Given the description of an element on the screen output the (x, y) to click on. 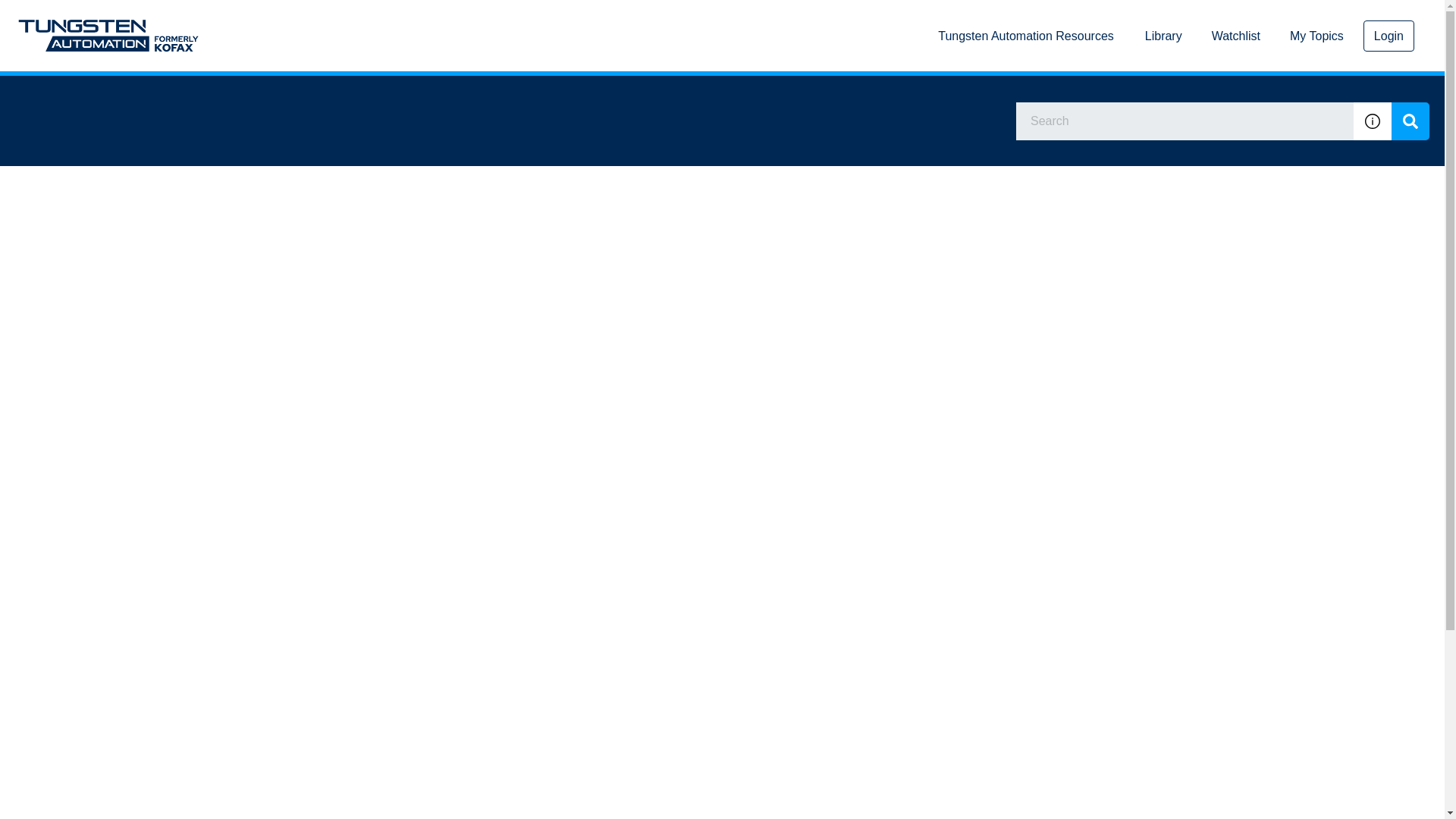
Tungsten Automation Resources (1025, 35)
Login (1387, 34)
Library (1163, 35)
My Topics (1316, 35)
Watchlist (1235, 35)
